Given the description of an element on the screen output the (x, y) to click on. 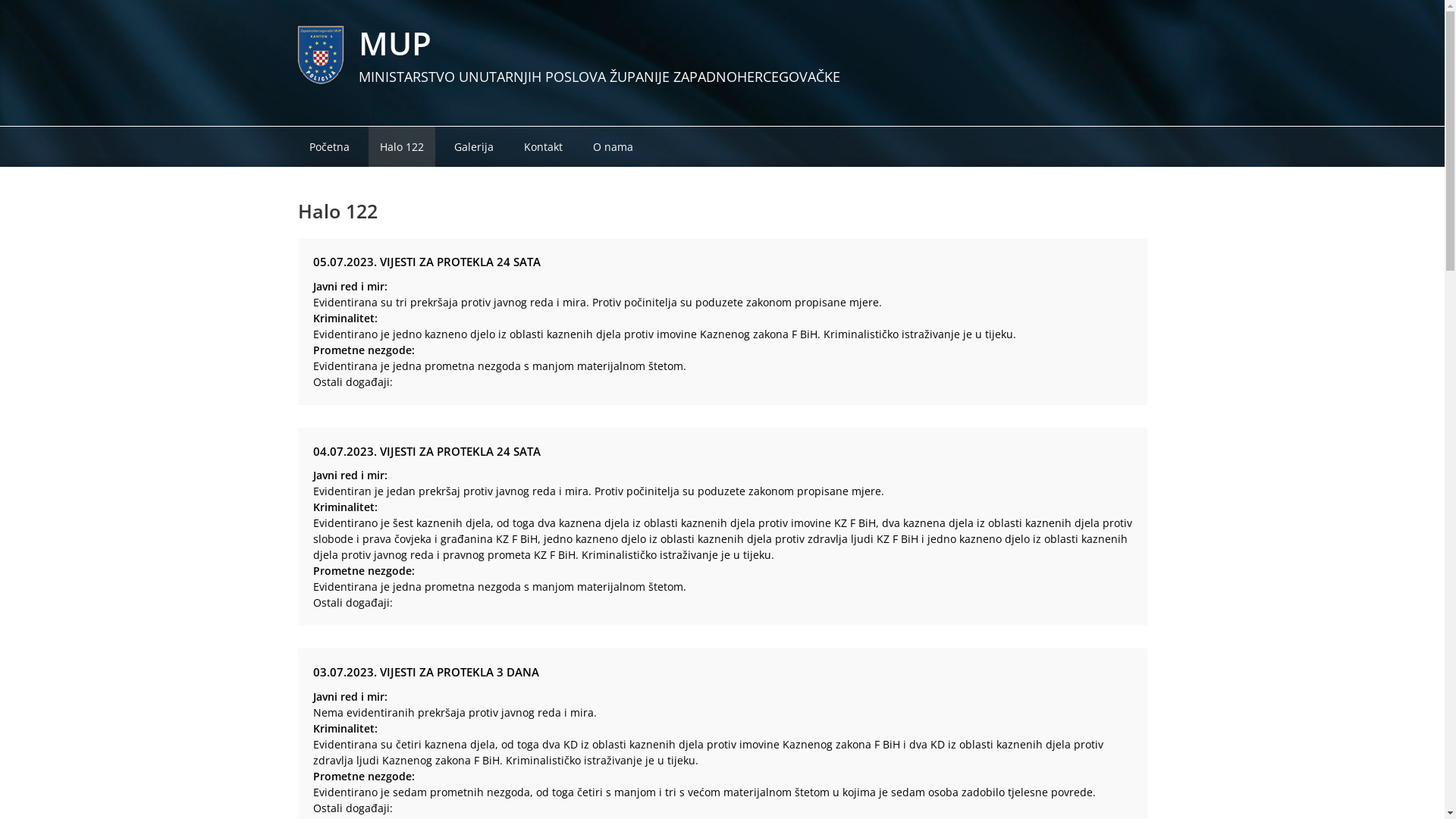
Skip to main content Element type: text (0, 0)
MUP Element type: text (393, 42)
O nama Element type: text (611, 146)
Galerija Element type: text (473, 146)
Halo 122 Element type: text (401, 146)
Kontakt Element type: text (543, 146)
